Given the description of an element on the screen output the (x, y) to click on. 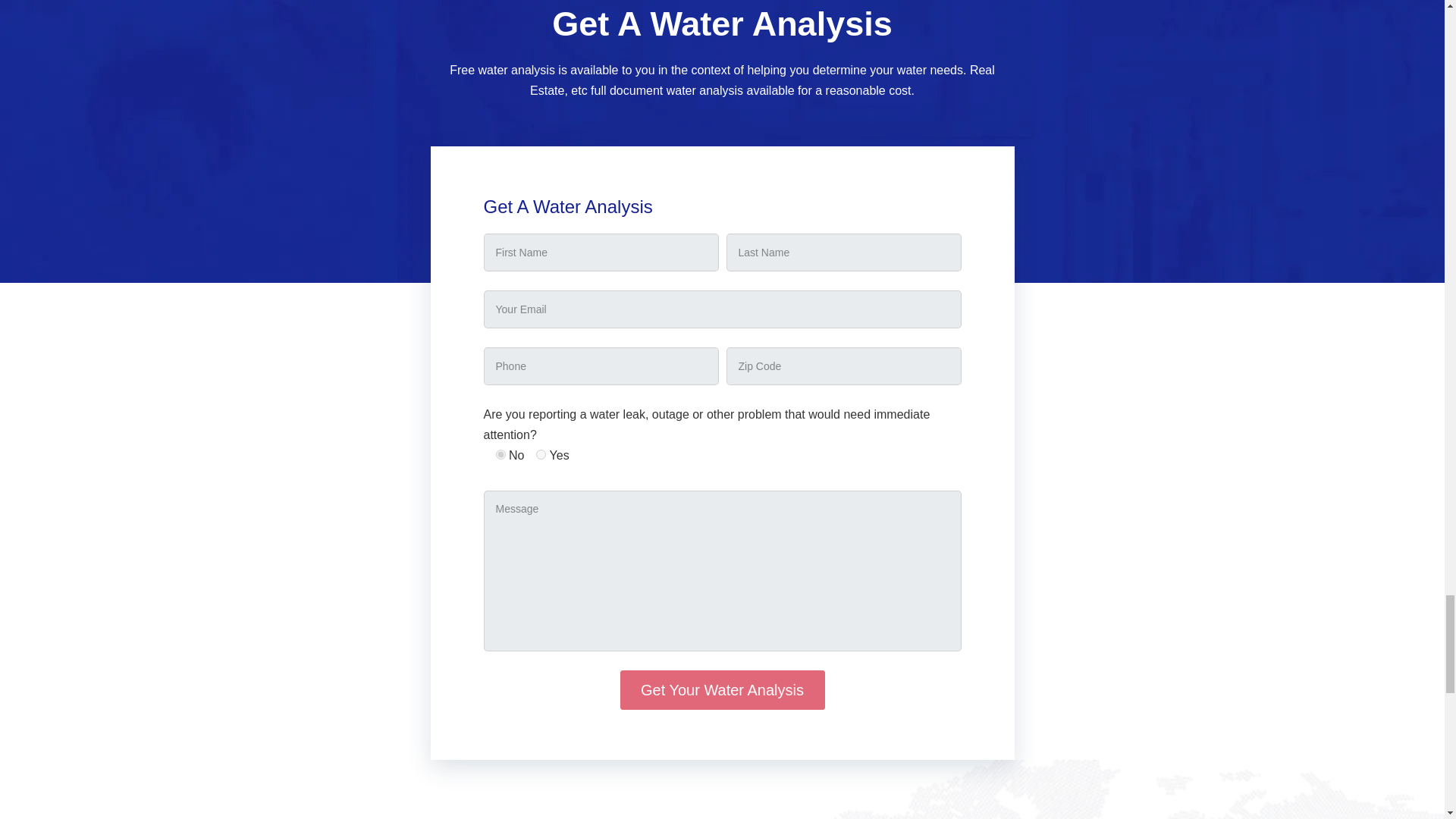
Yes (540, 454)
Get Your Water Analysis (722, 690)
Get Your Water Analysis (722, 690)
No (500, 454)
